Given the description of an element on the screen output the (x, y) to click on. 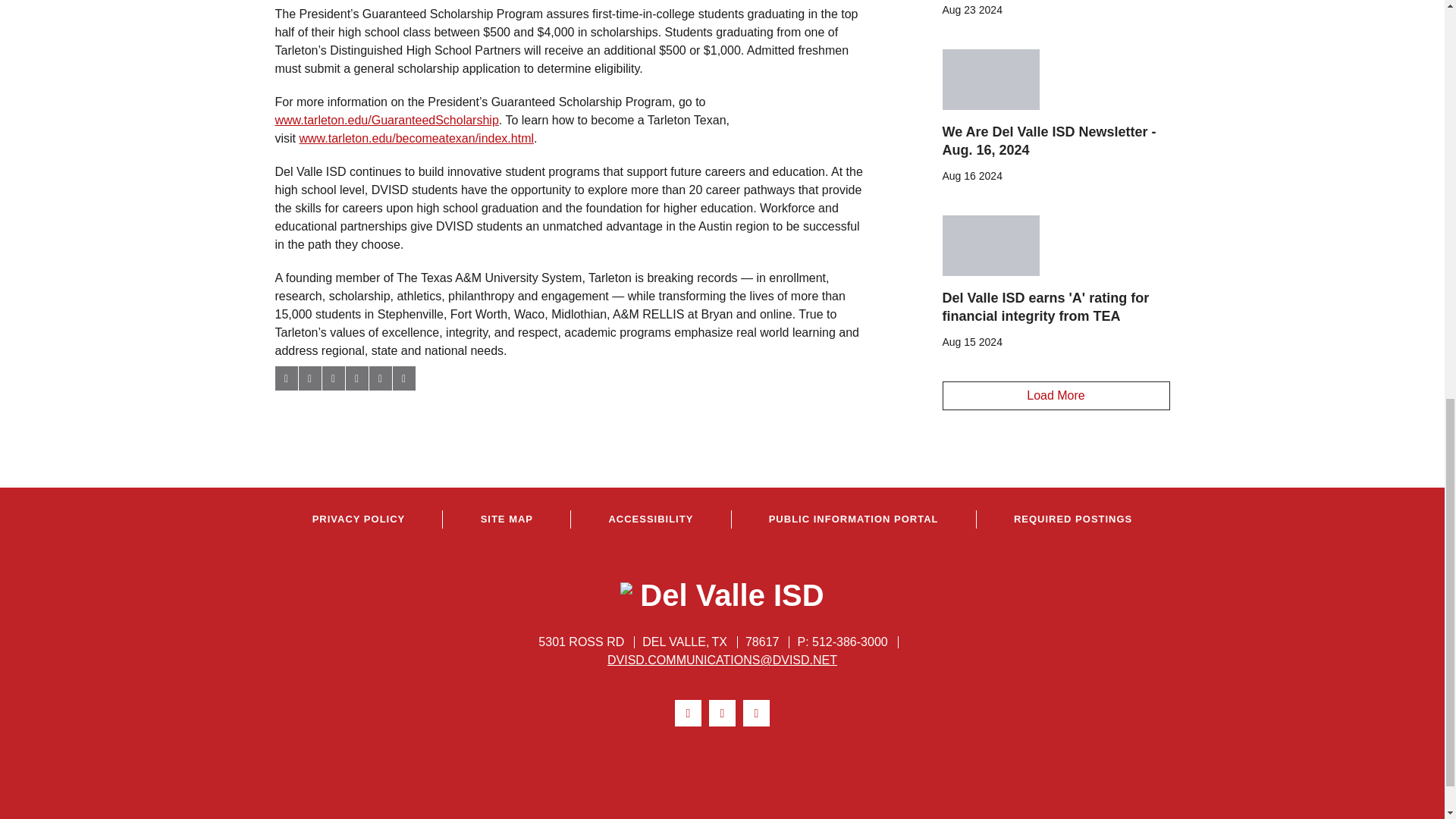
Share to Pinterest (357, 378)
Powered by Finalsite opens in a new window (722, 762)
Share to LinkedIn (332, 378)
Print this page (403, 378)
Share to Facebook (286, 378)
Email (722, 659)
District Newsletter graphic with DV logo (990, 79)
DVISD logo on red background (990, 245)
Share to Twitter (309, 378)
Share to Email (379, 378)
